Given the description of an element on the screen output the (x, y) to click on. 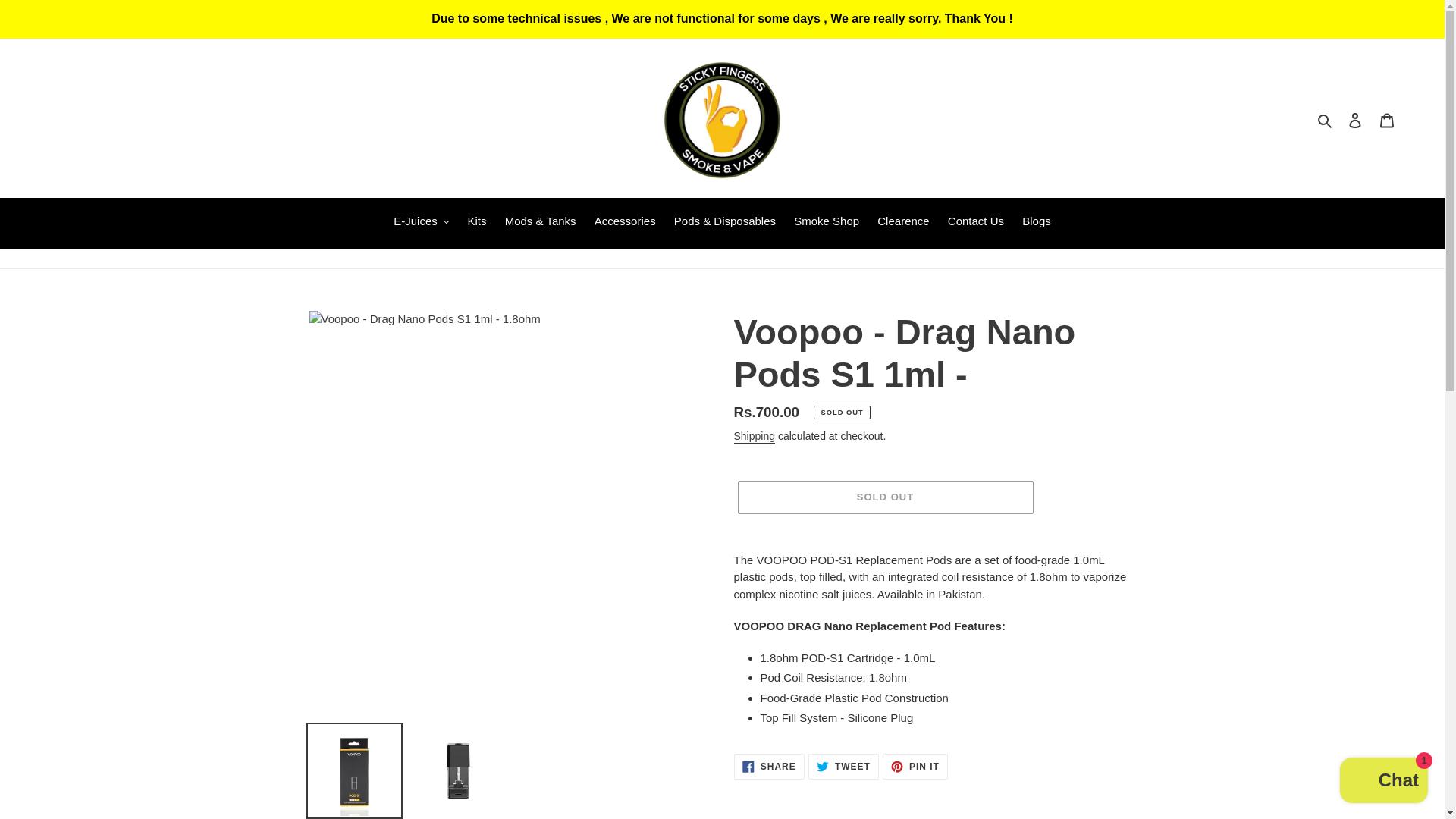
Search (1326, 119)
SOLD OUT (884, 497)
Kits (476, 222)
Log in (1355, 120)
Contact Us (975, 222)
Accessories (624, 222)
Shipping (754, 436)
Smoke Shop (826, 222)
Clearence (902, 222)
Shopify online store chat (1383, 781)
Cart (1387, 120)
Blogs (1036, 222)
E-Juices (421, 222)
